Given the description of an element on the screen output the (x, y) to click on. 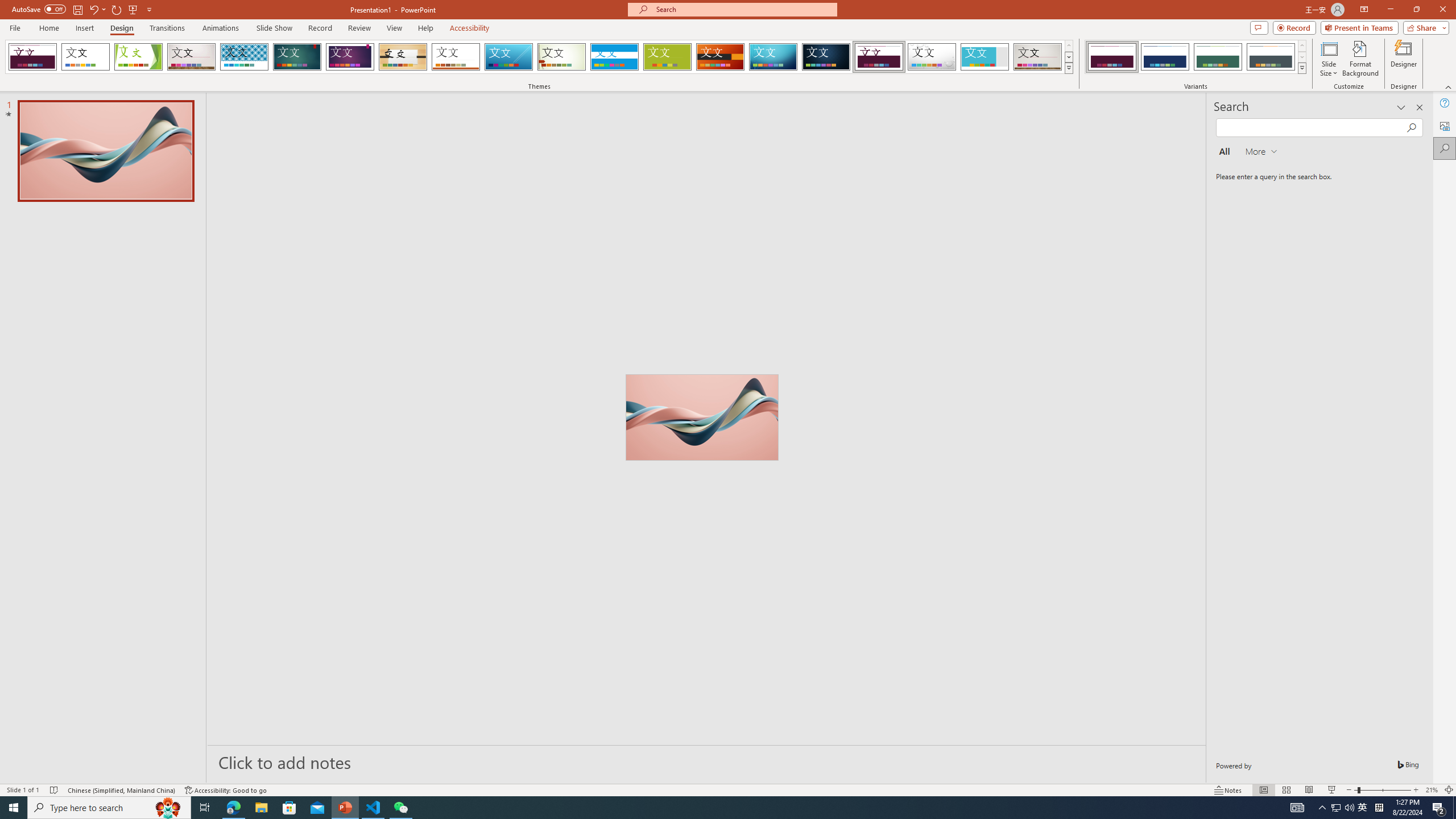
Frame (984, 56)
Integral (244, 56)
Droplet (931, 56)
Dividend (879, 56)
Accessibility Checker Accessibility: Good to go (226, 790)
AutomationID: SlideThemesGallery (539, 56)
